Given the description of an element on the screen output the (x, y) to click on. 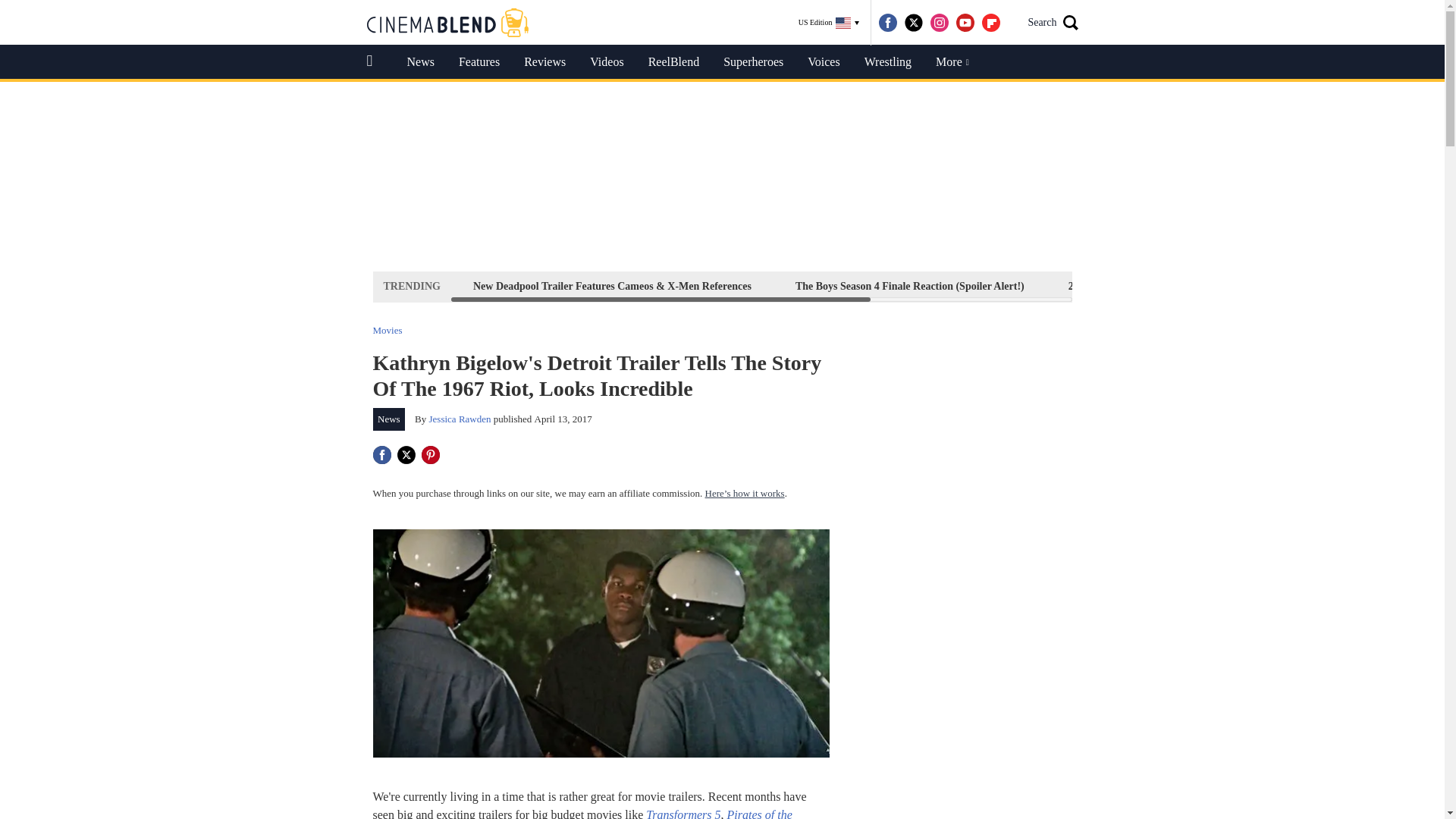
US Edition (828, 22)
Wrestling (887, 61)
Features (479, 61)
Reviews (545, 61)
Movies (387, 329)
News (419, 61)
Videos (606, 61)
Voices (822, 61)
2024 Upcoming Movies (1120, 286)
100 Best Sitcoms Of All Time (1283, 286)
ReelBlend (673, 61)
Superheroes (752, 61)
News (389, 418)
